Given the description of an element on the screen output the (x, y) to click on. 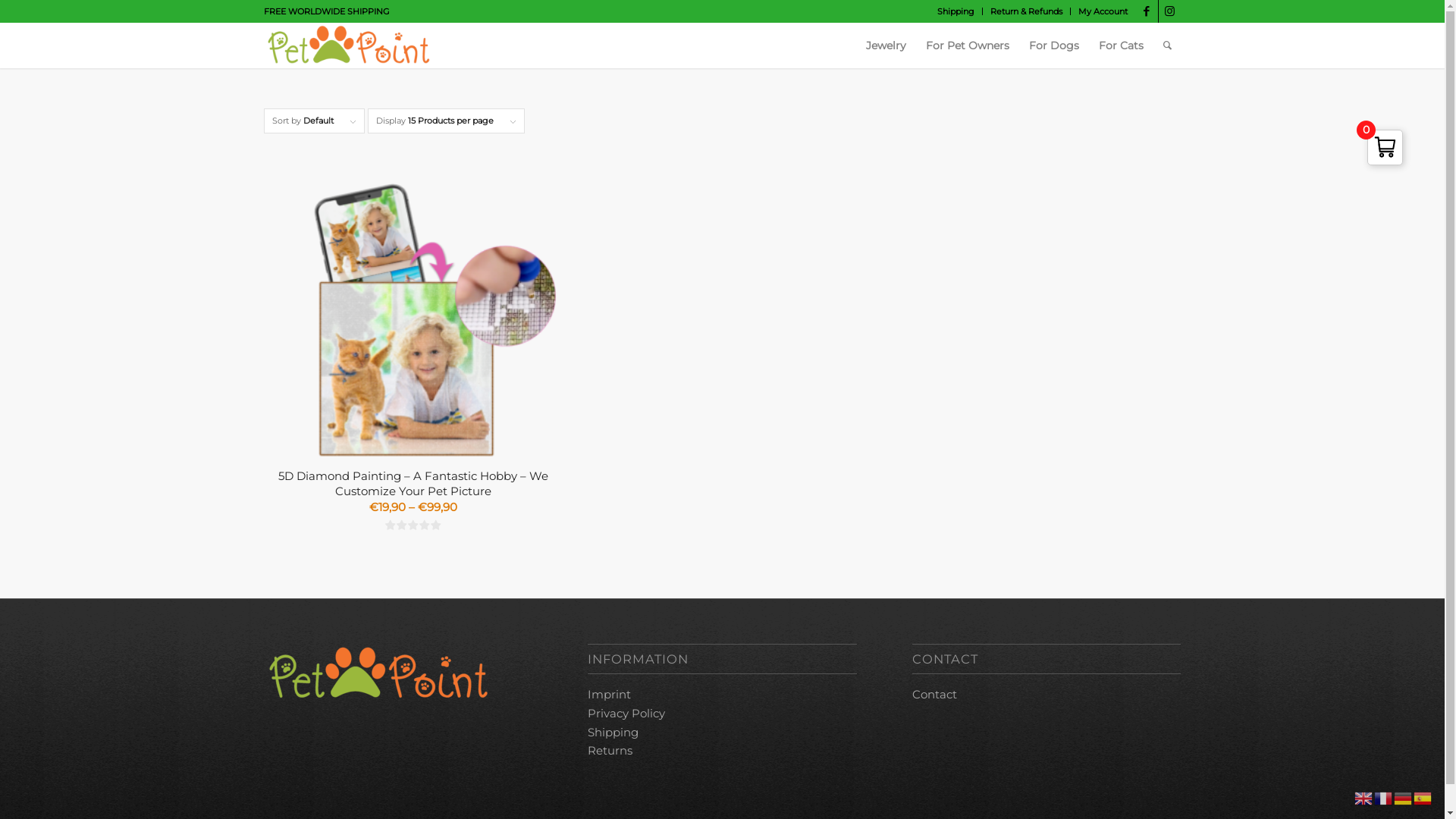
Contact Element type: text (934, 694)
Shipping Element type: text (612, 731)
Facebook Element type: hover (1146, 11)
Jewelry Element type: text (885, 45)
For Cats Element type: text (1120, 45)
Spanish Element type: hover (1423, 797)
French Element type: hover (1383, 797)
My Account Element type: text (1102, 10)
Imprint Element type: text (608, 694)
Return & Refunds Element type: text (1026, 10)
Instagram Element type: hover (1169, 11)
Privacy Policy Element type: text (626, 713)
German Element type: hover (1403, 797)
English Element type: hover (1364, 797)
For Dogs Element type: text (1053, 45)
Returns Element type: text (609, 750)
For Pet Owners Element type: text (967, 45)
Shipping Element type: text (955, 10)
